Given the description of an element on the screen output the (x, y) to click on. 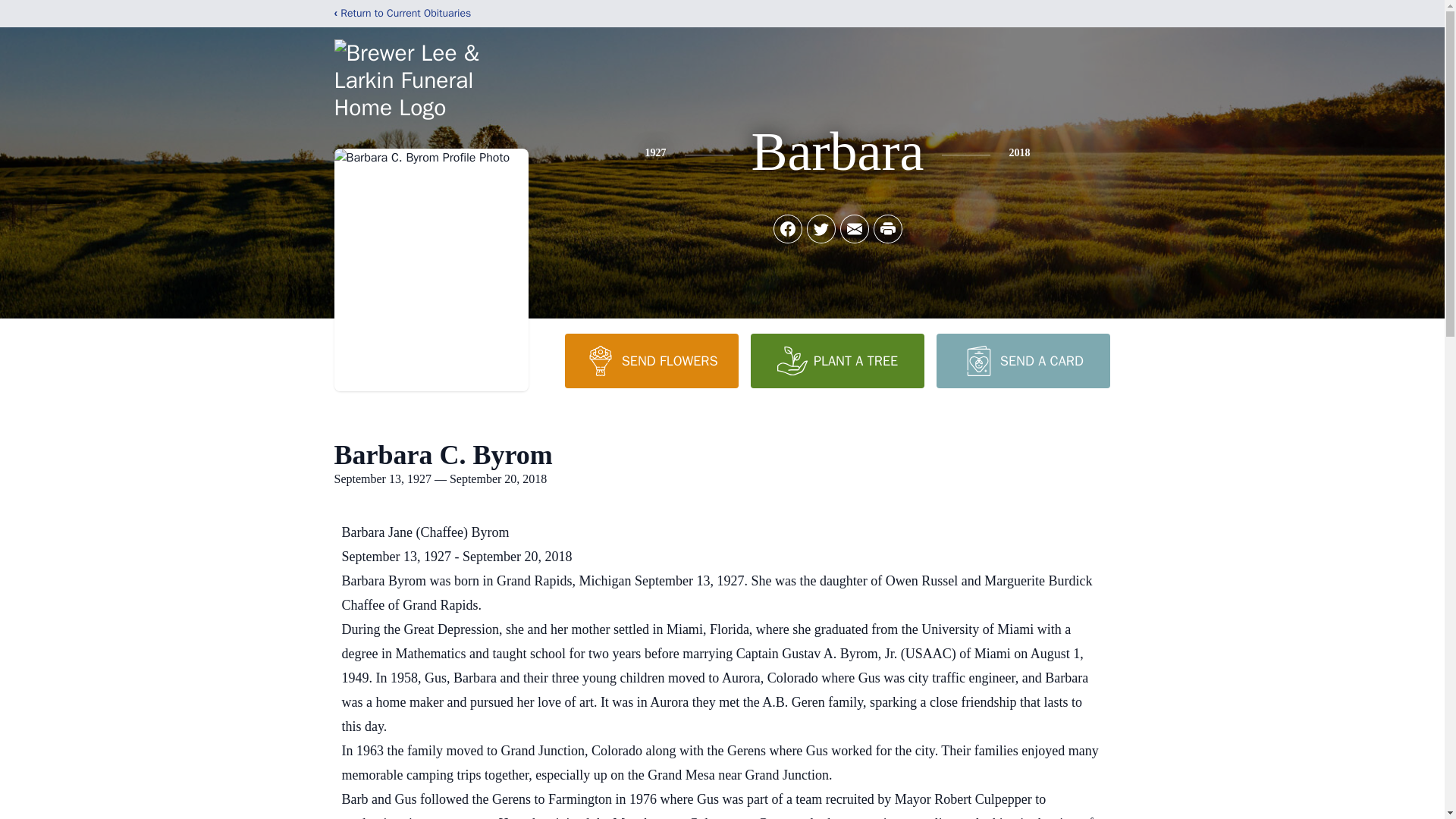
SEND FLOWERS (651, 360)
SEND A CARD (1022, 360)
PLANT A TREE (837, 360)
